Given the description of an element on the screen output the (x, y) to click on. 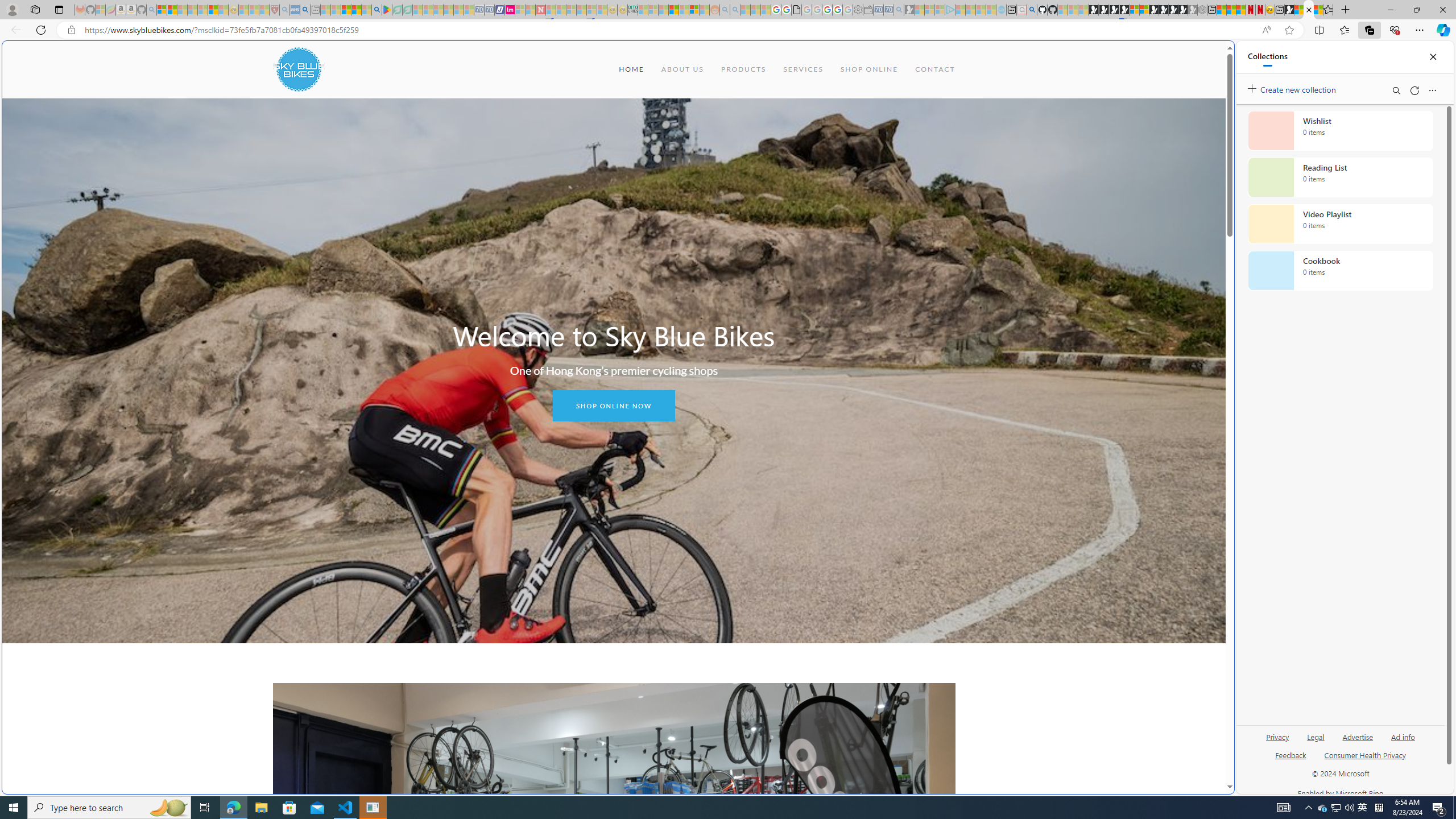
SERVICES (802, 68)
PRODUCTS (742, 68)
HOME (631, 68)
ABOUT US (681, 68)
